Given the description of an element on the screen output the (x, y) to click on. 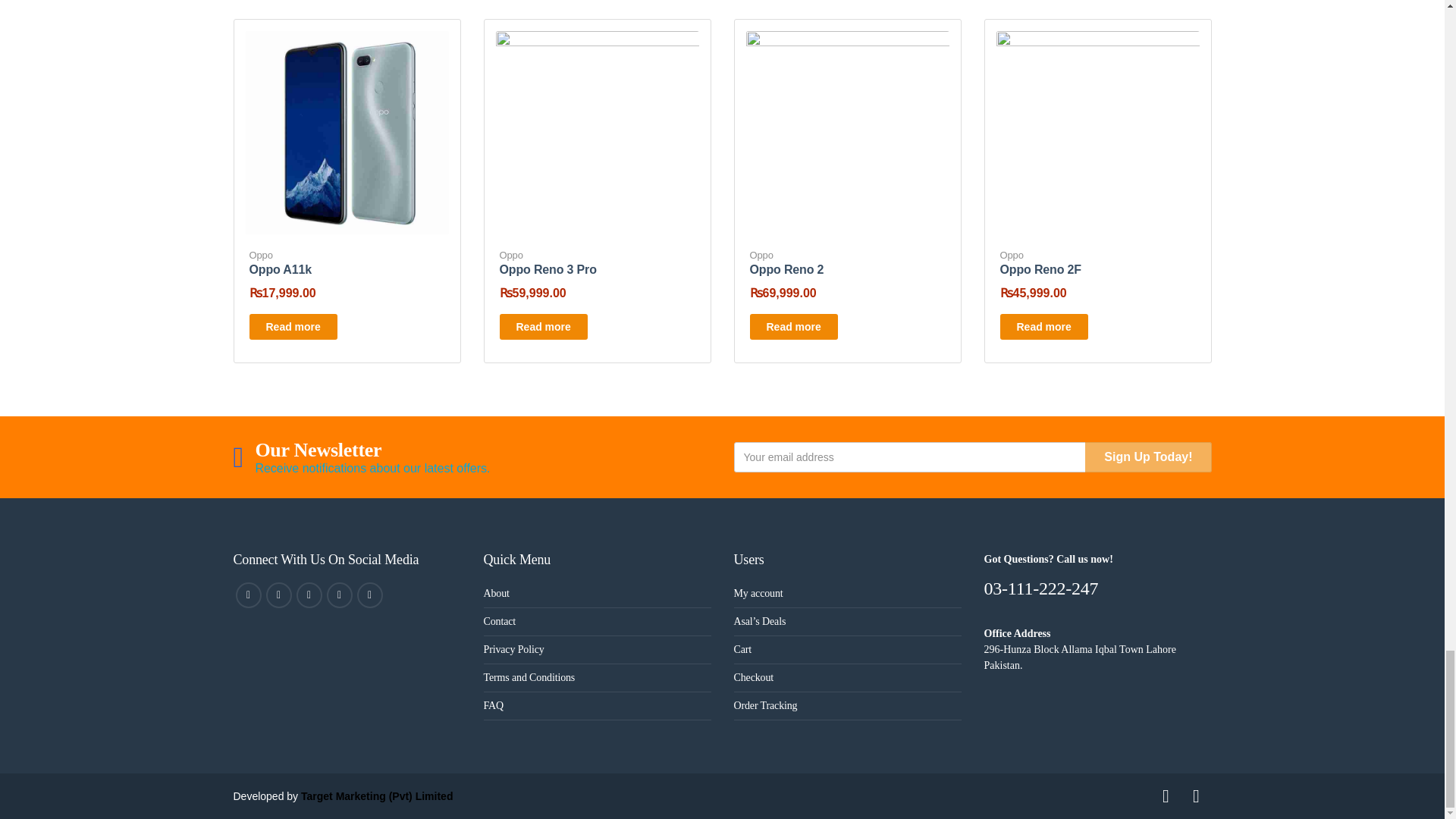
Oppo Reno 3 Pro (547, 269)
Read more (292, 326)
Oppo A11k (279, 269)
Oppo (260, 255)
Read more (542, 326)
Oppo (510, 255)
